Given the description of an element on the screen output the (x, y) to click on. 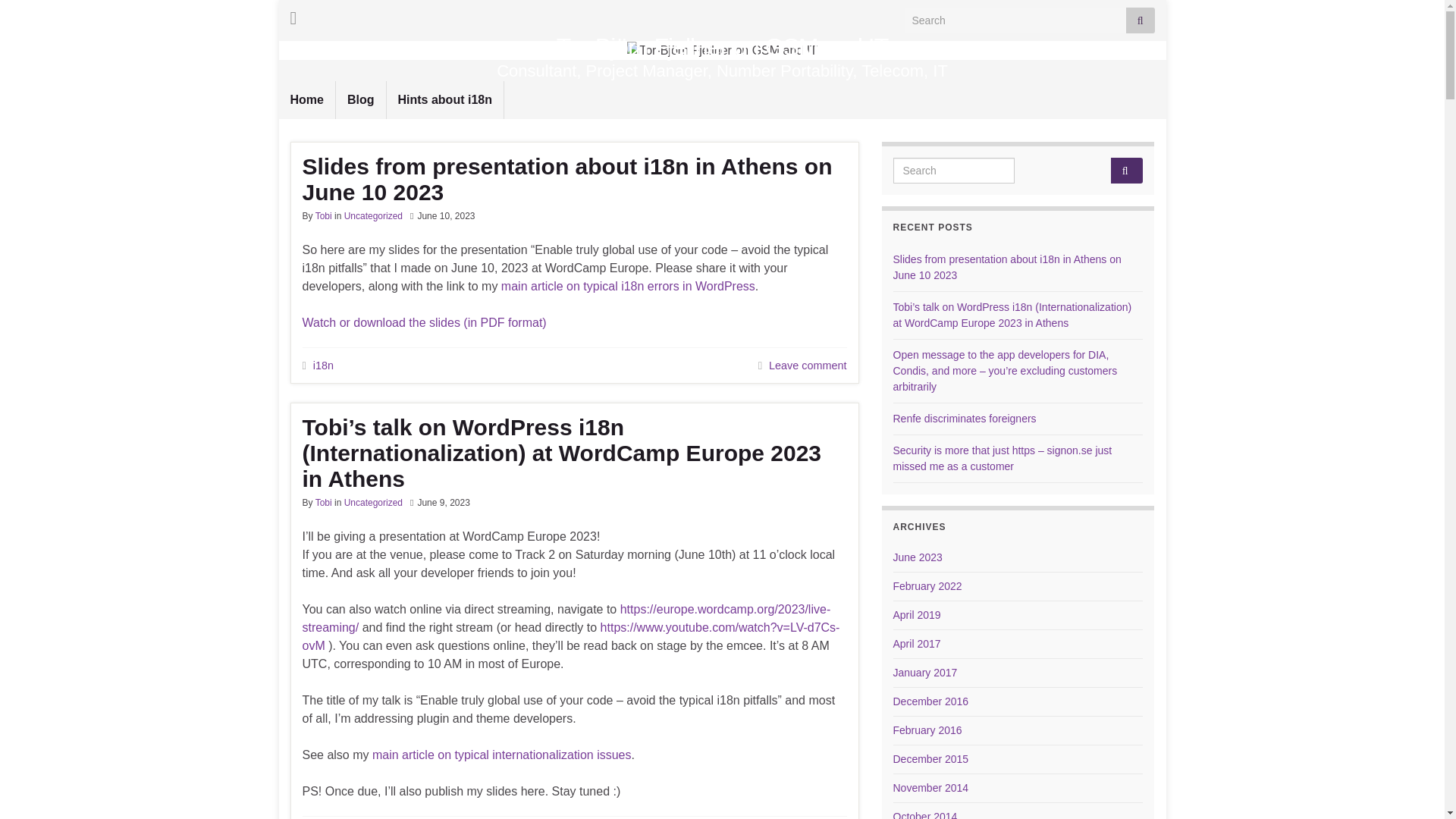
Blog (360, 99)
i18n (323, 365)
main article on typical internationalization issues (501, 754)
Tobi (323, 502)
Tobi (323, 215)
Hints about i18n (445, 99)
main article on typical i18n errors in WordPress (627, 286)
Leave comment (806, 365)
Uncategorized (373, 502)
Home (306, 99)
Uncategorized (373, 215)
